Given the description of an element on the screen output the (x, y) to click on. 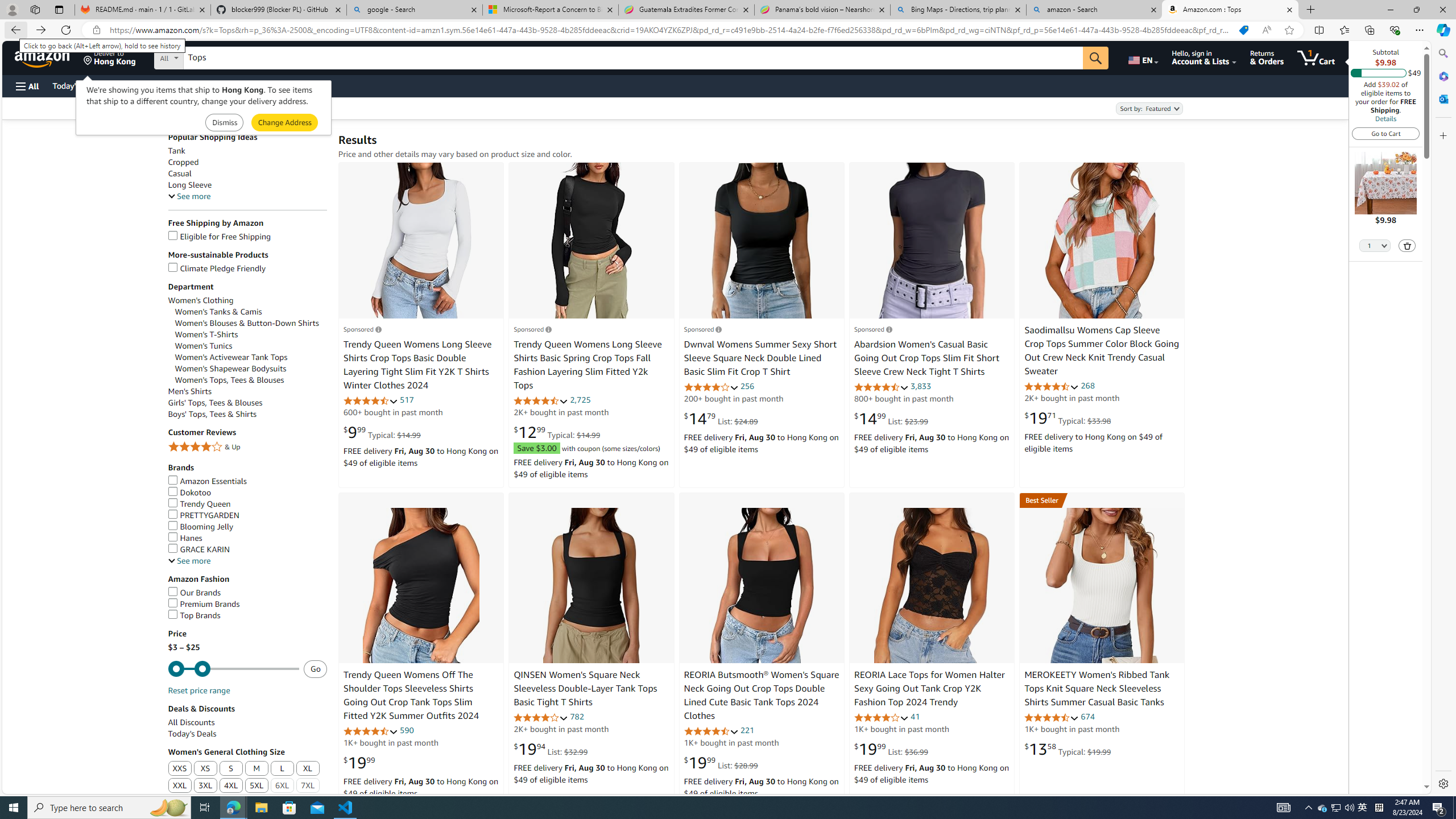
$19.99 List: $36.99 (890, 748)
Women's Clothing (247, 300)
Women's Tanks & Camis (250, 311)
Top Brands (194, 614)
XS (204, 768)
221 (746, 729)
S (231, 768)
Delete (1407, 245)
Climate Pledge Friendly (247, 268)
Women's Activewear Tank Tops (250, 356)
4.5 out of 5 stars (1051, 717)
